Given the description of an element on the screen output the (x, y) to click on. 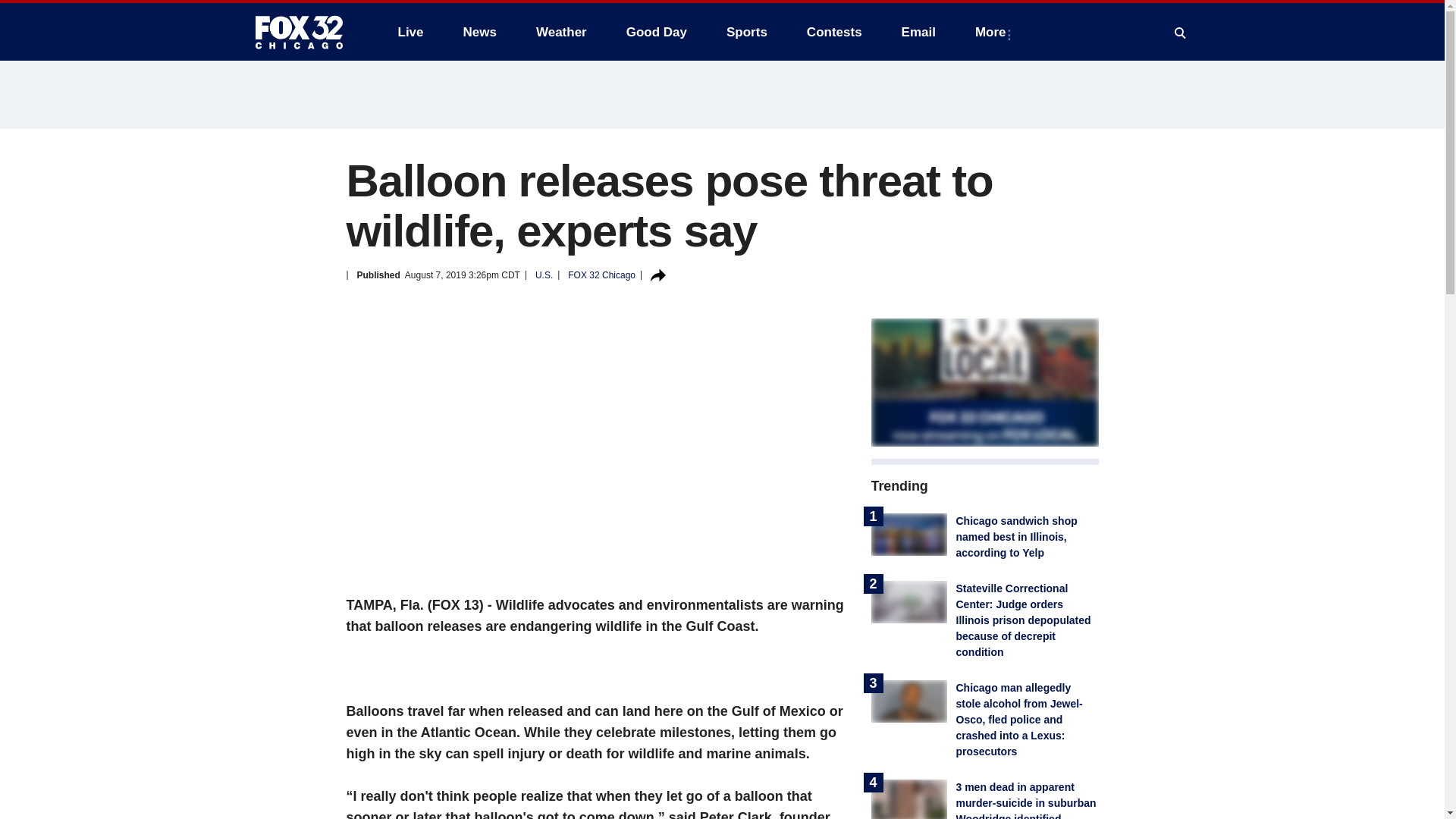
Weather (561, 32)
Good Day (656, 32)
Email (918, 32)
Sports (746, 32)
More (993, 32)
News (479, 32)
Live (410, 32)
Contests (834, 32)
